Given the description of an element on the screen output the (x, y) to click on. 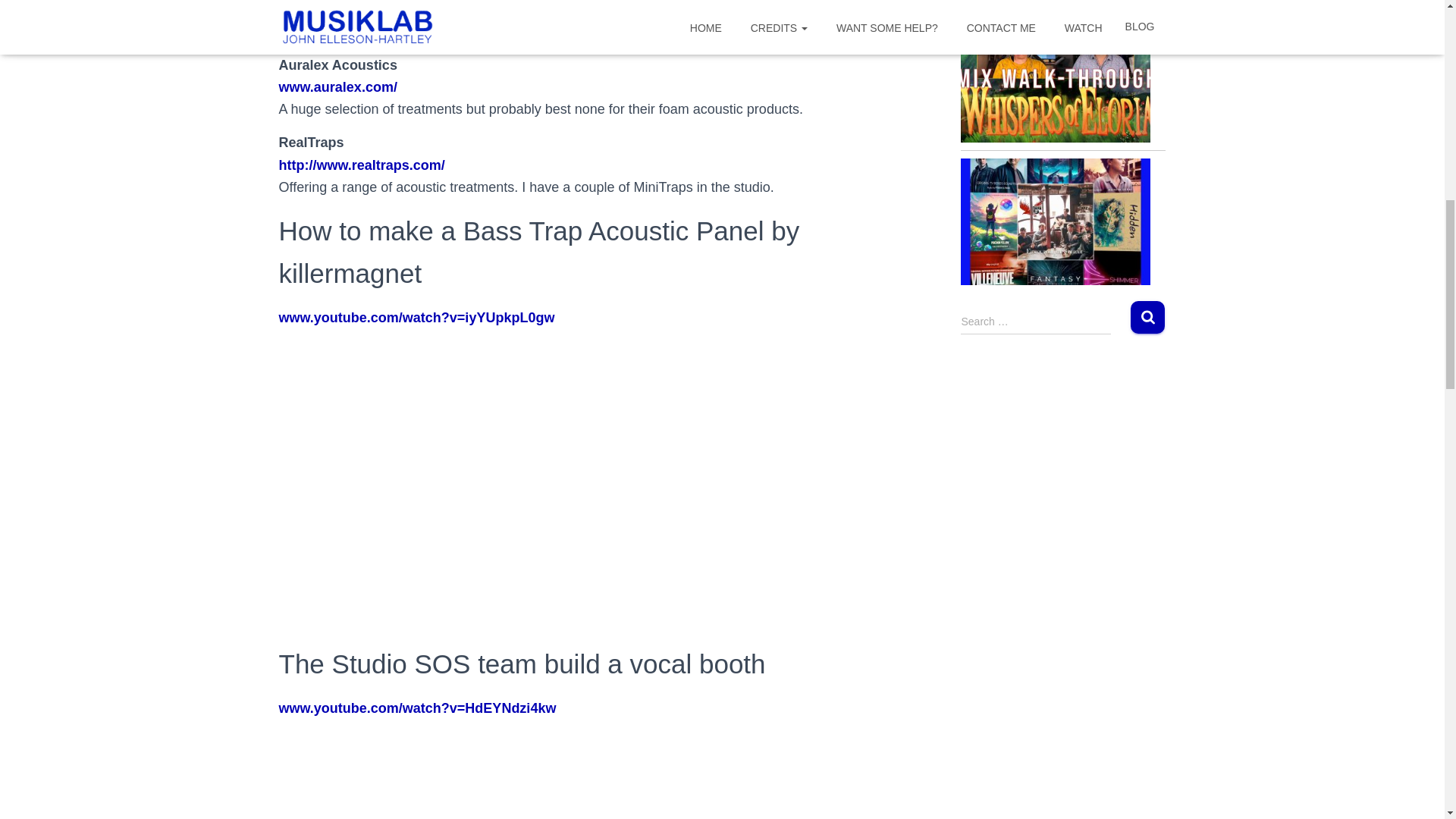
Search (1147, 317)
Search (1147, 317)
Search (1147, 317)
